Given the description of an element on the screen output the (x, y) to click on. 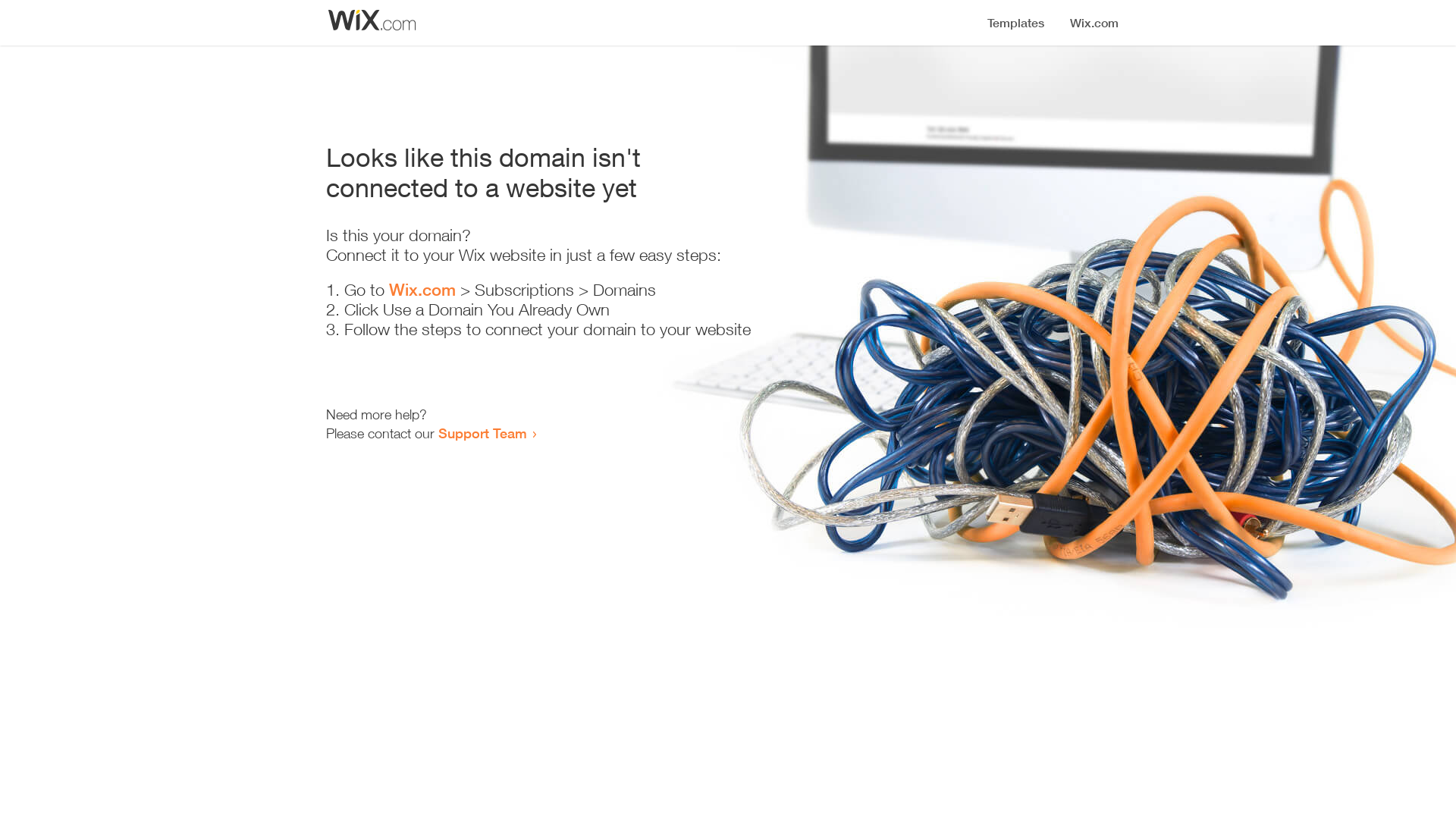
Wix.com Element type: text (422, 289)
Support Team Element type: text (482, 432)
